Given the description of an element on the screen output the (x, y) to click on. 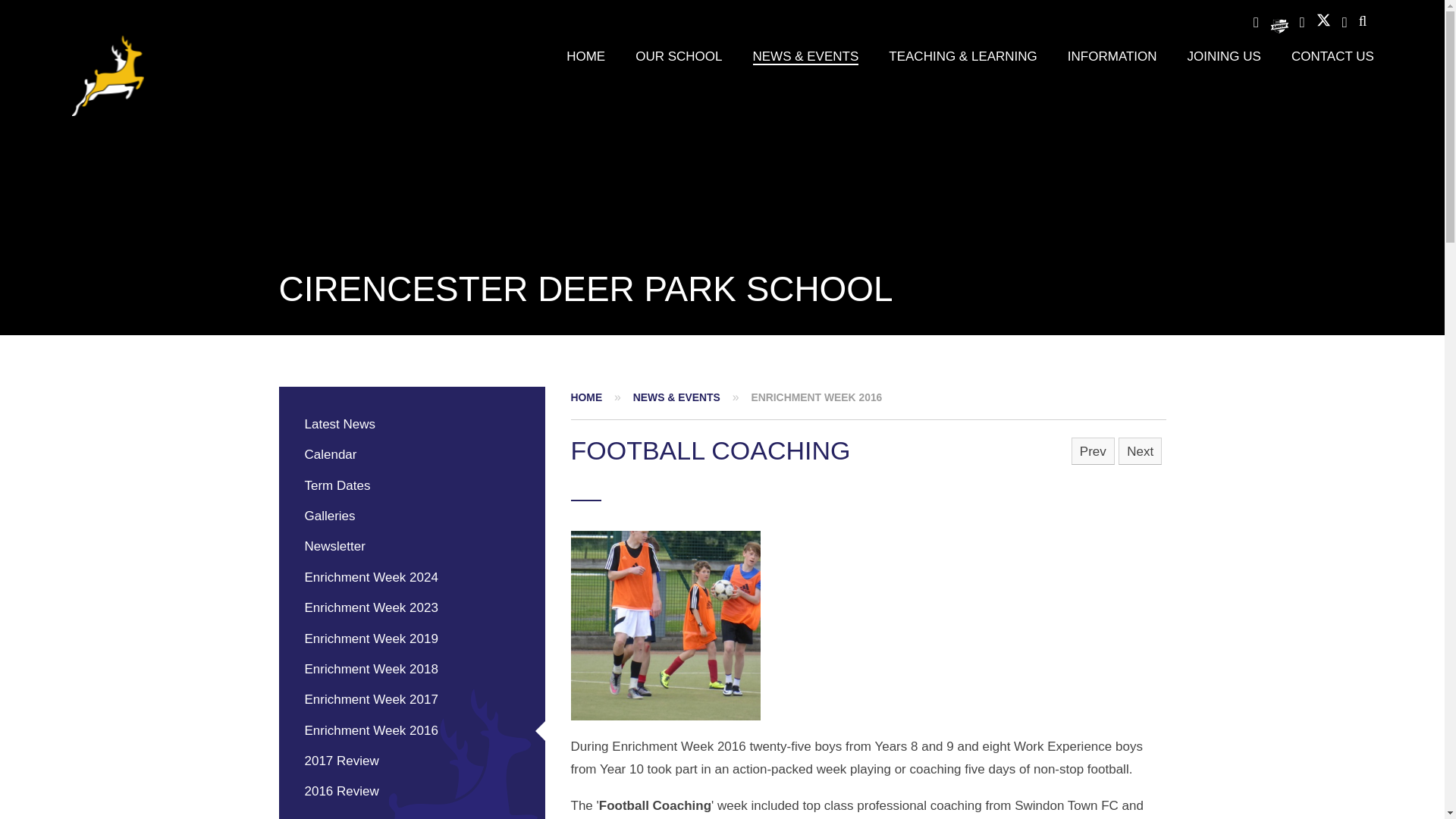
OUR SCHOOL (678, 56)
HOME (585, 56)
